Given the description of an element on the screen output the (x, y) to click on. 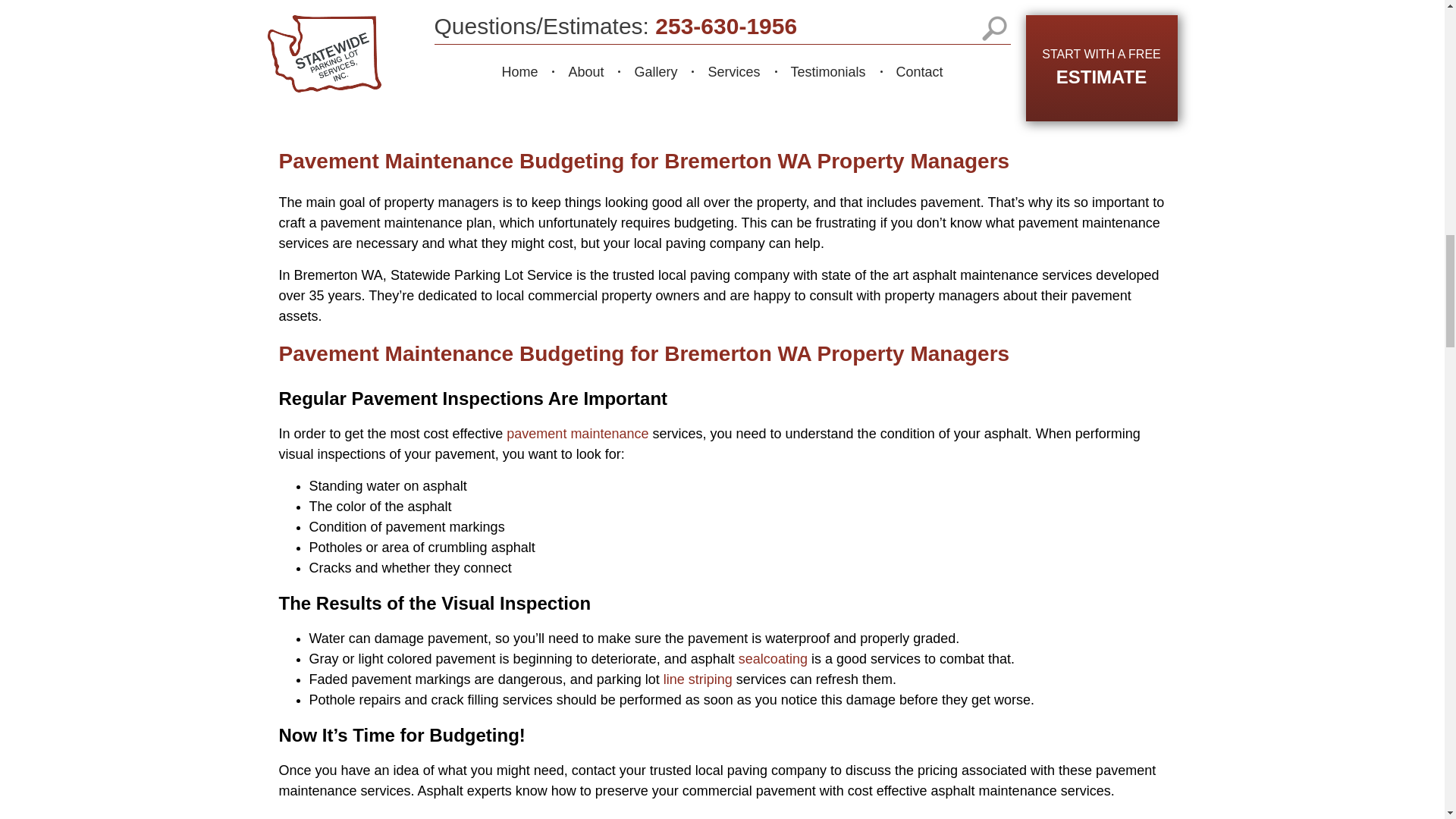
sealcoating (773, 658)
pavement maintenance (576, 433)
Contact us (1094, 817)
line striping (697, 679)
